Given the description of an element on the screen output the (x, y) to click on. 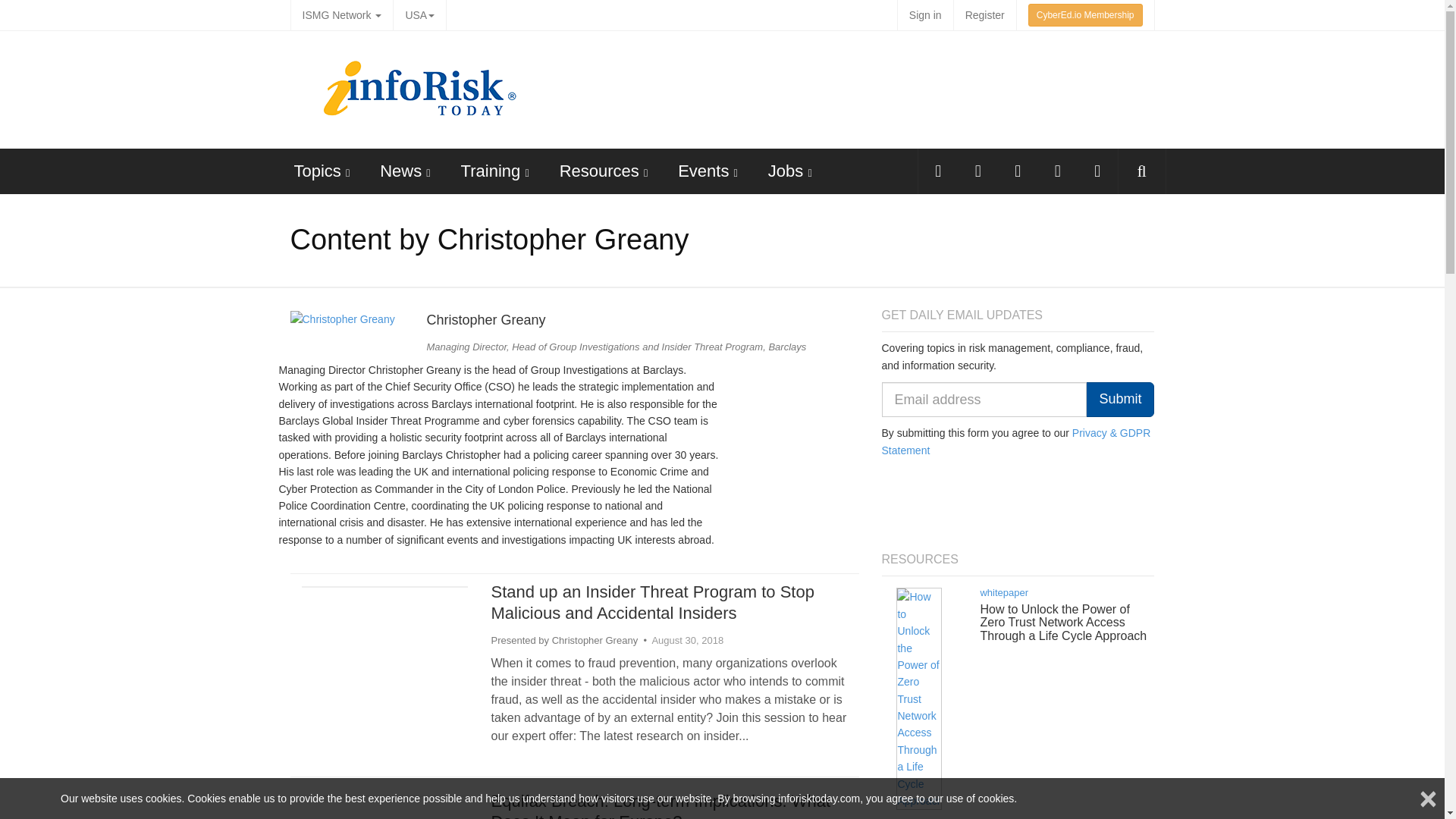
CyberEd.io Membership (1084, 15)
Topics (317, 170)
ISMG Network (341, 15)
Sign in (925, 15)
USA (418, 15)
Register (984, 15)
